Given the description of an element on the screen output the (x, y) to click on. 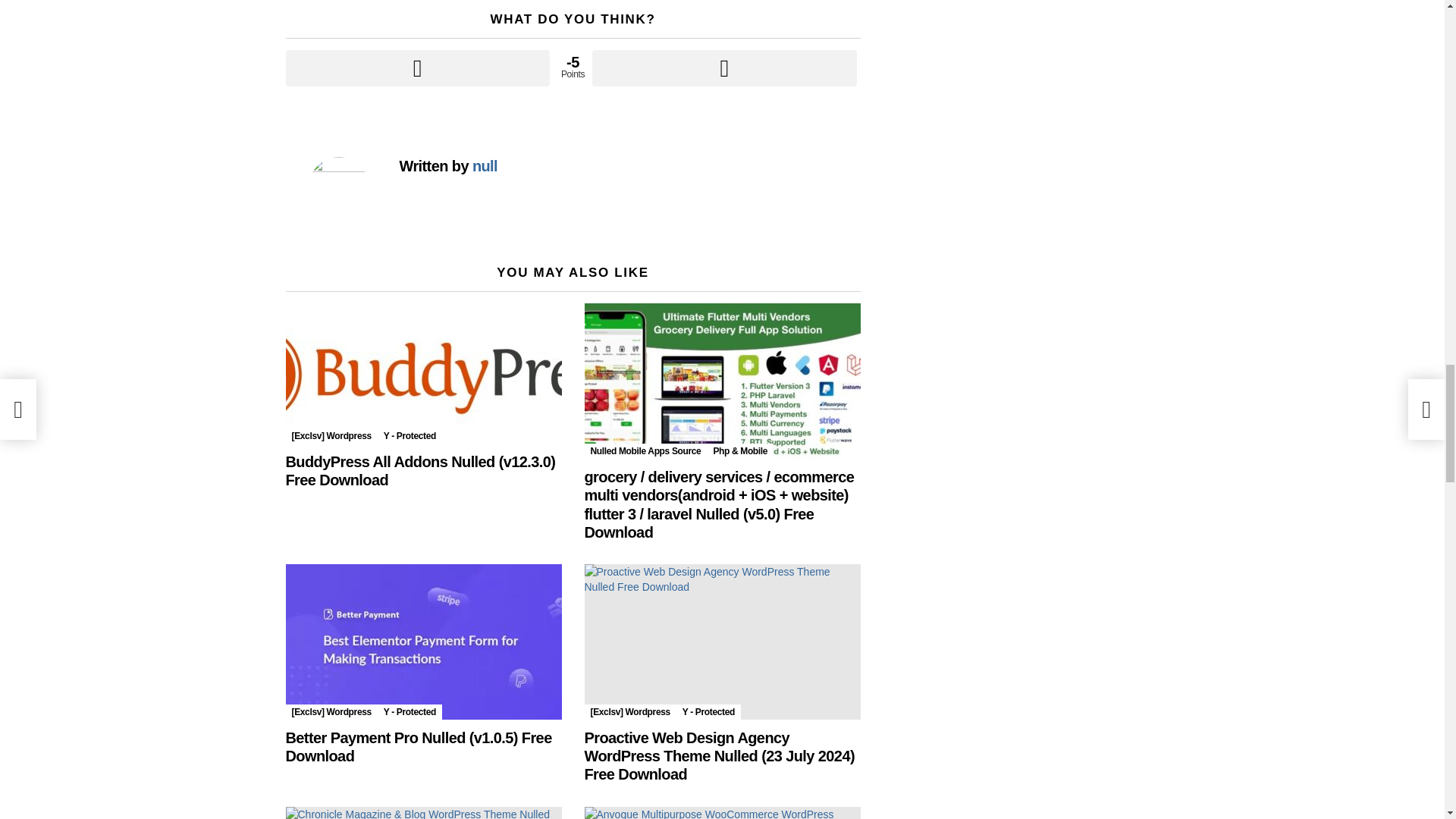
null (484, 166)
Downvote (724, 67)
Upvote (416, 67)
Downvote (724, 67)
Upvote (416, 67)
